Given the description of an element on the screen output the (x, y) to click on. 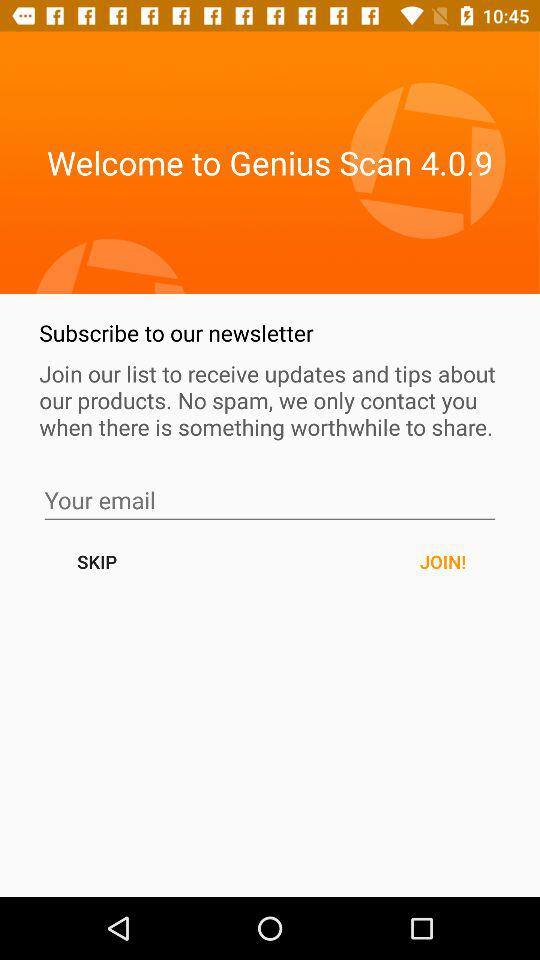
turn off the icon to the left of the join! button (96, 561)
